Given the description of an element on the screen output the (x, y) to click on. 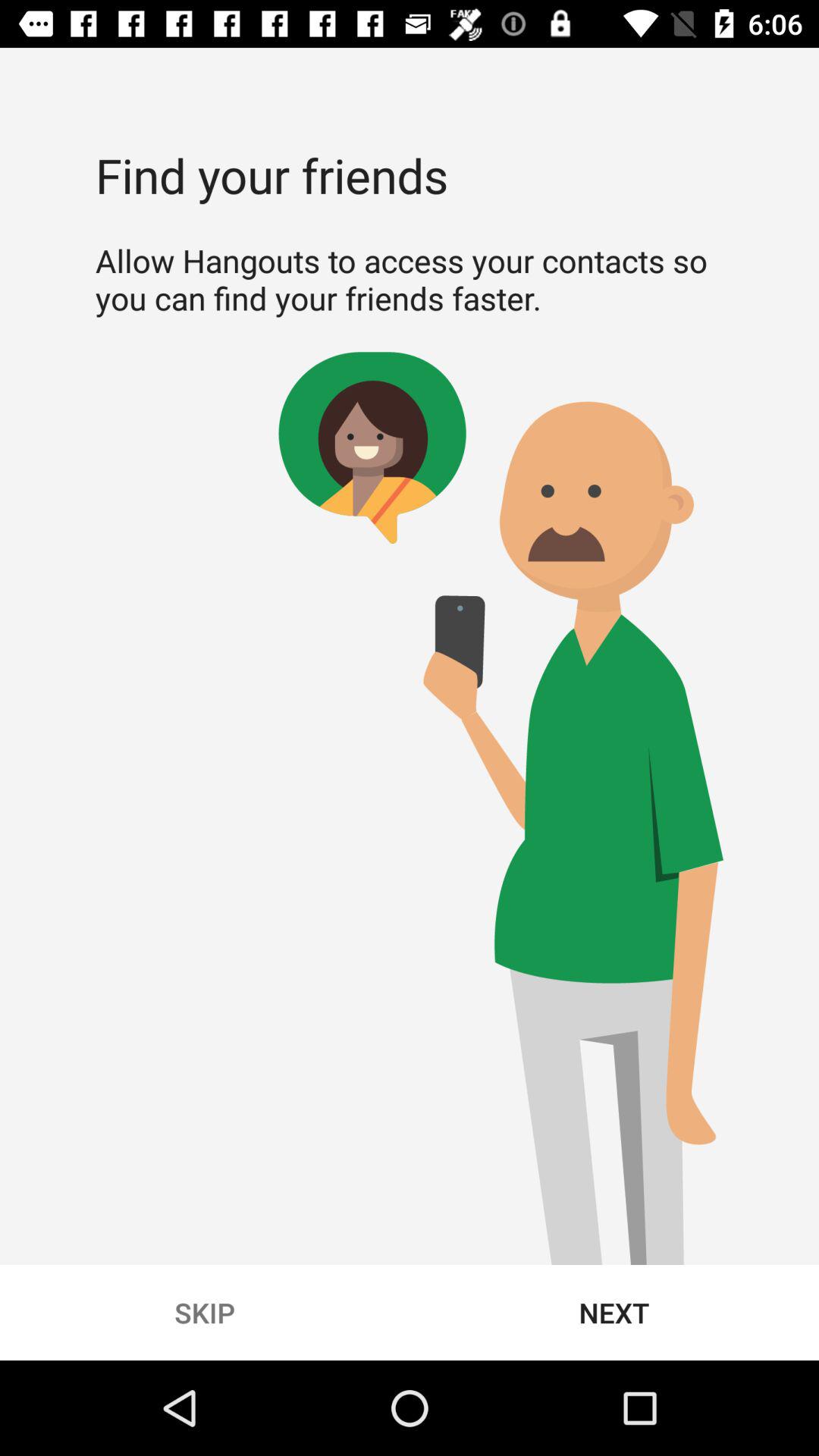
press the item to the left of the next icon (204, 1312)
